Given the description of an element on the screen output the (x, y) to click on. 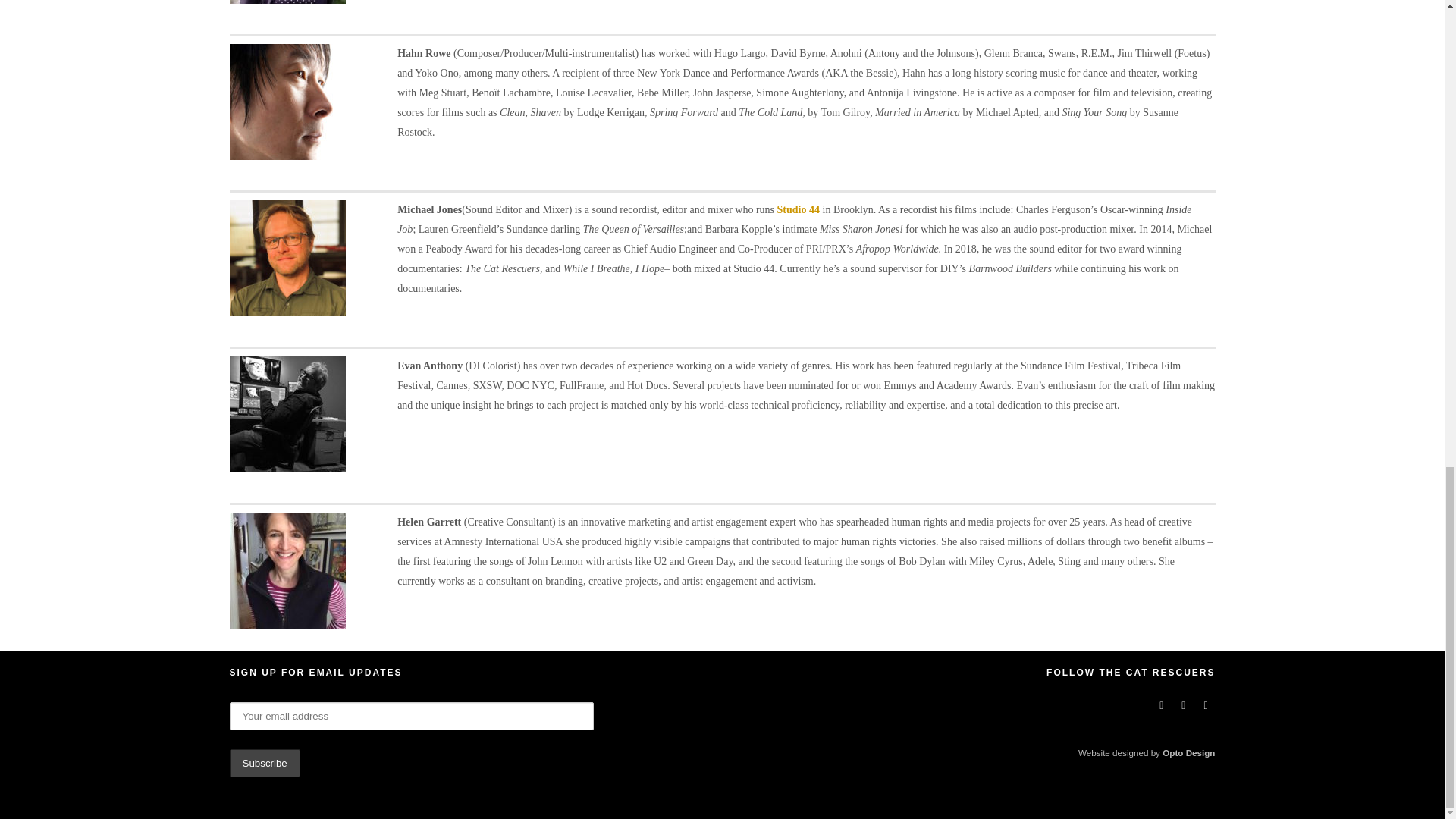
Dor-Dotson (286, 2)
HelenHeadShot (286, 570)
Subscribe (263, 763)
EvanAnthony3 (286, 414)
